Given the description of an element on the screen output the (x, y) to click on. 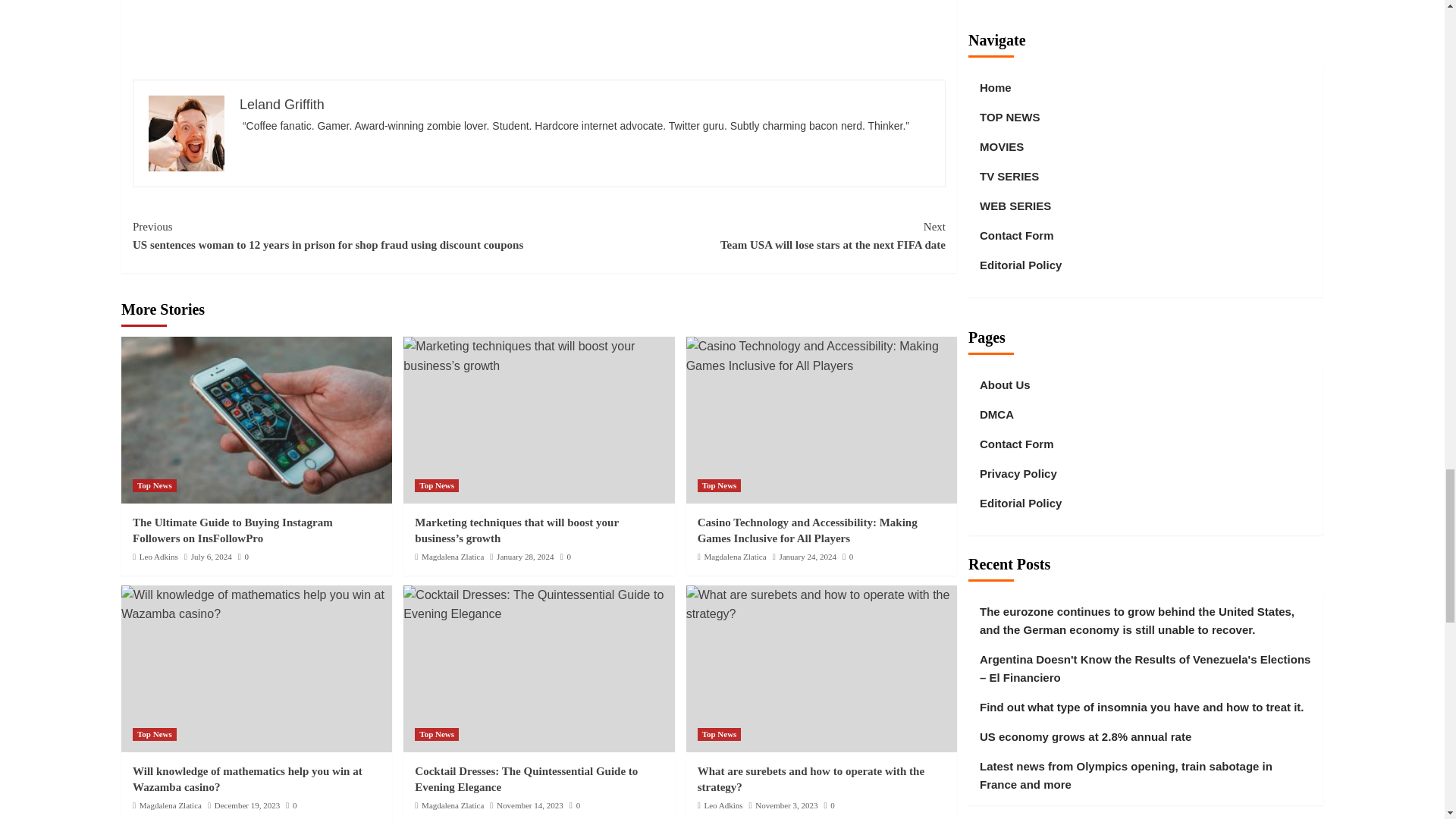
Top News (436, 485)
Magdalena Zlatica (452, 556)
What are surebets and how to operate with the strategy? (820, 604)
Top News (154, 485)
Leland Griffith (282, 104)
July 6, 2024 (210, 556)
0 (243, 556)
Leo Adkins (741, 235)
